Given the description of an element on the screen output the (x, y) to click on. 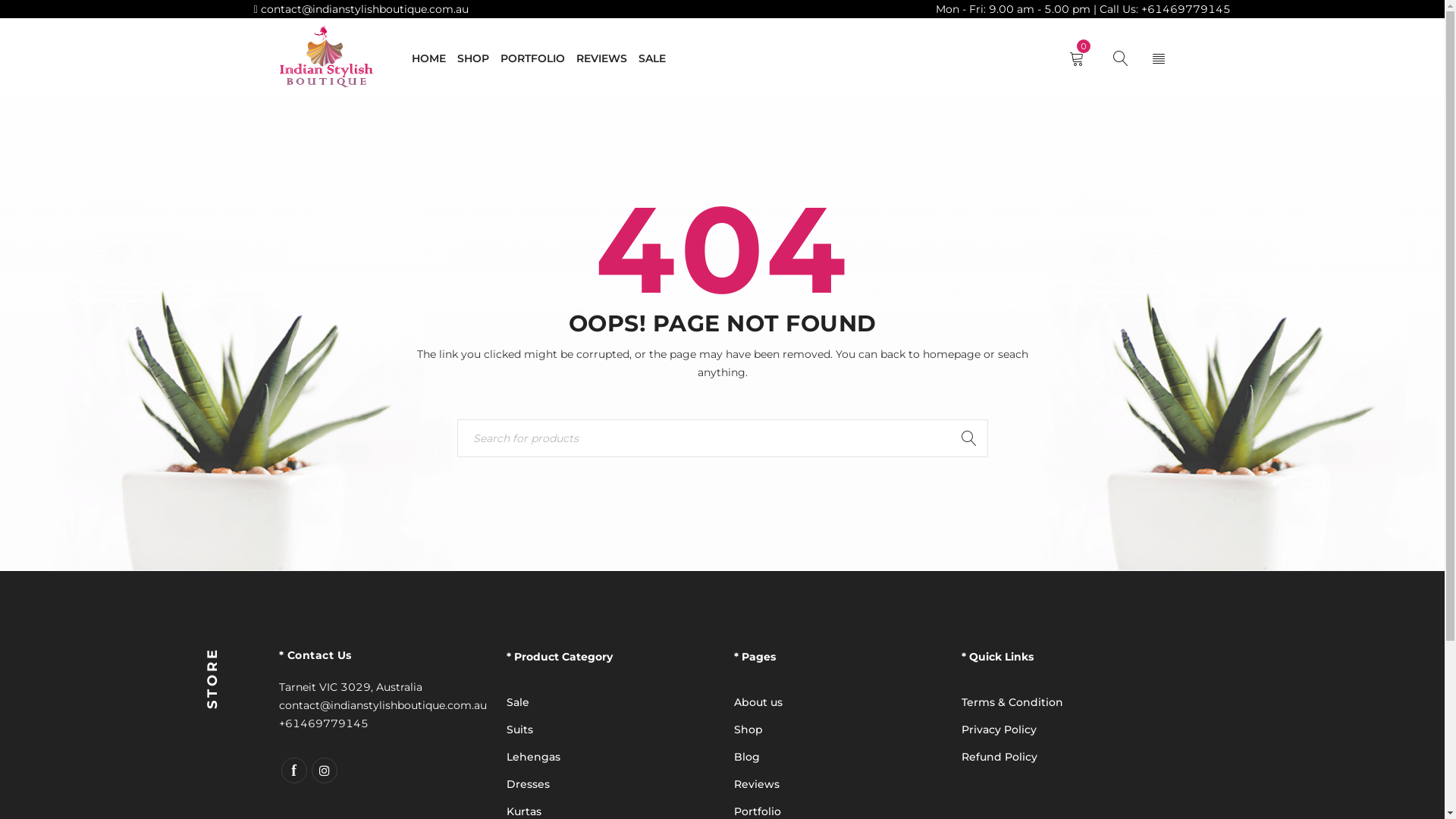
SALE Element type: text (651, 58)
Privacy Policy Element type: text (998, 729)
contact@indianstylishboutique.com.au Element type: text (382, 705)
Terms & Condition Element type: text (1012, 701)
Blog Element type: text (746, 756)
REVIEWS Element type: text (601, 58)
Tarneit VIC 3029, Australia Element type: text (350, 686)
Sale Element type: text (517, 701)
Lehengas Element type: text (533, 756)
PORTFOLIO Element type: text (532, 58)
SHOP Element type: text (472, 58)
Search Element type: text (968, 438)
Dresses Element type: text (527, 783)
0 Element type: text (1079, 58)
Reviews Element type: text (756, 783)
Suits Element type: text (519, 729)
contact@indianstylishboutique.com.au Element type: text (362, 8)
Yoome Element type: hover (326, 57)
HOME Element type: text (428, 58)
+61469779145 Element type: text (323, 723)
Shop Element type: text (748, 729)
Refund Policy Element type: text (999, 756)
+61469779145 Element type: text (1185, 8)
About us Element type: text (758, 701)
